Given the description of an element on the screen output the (x, y) to click on. 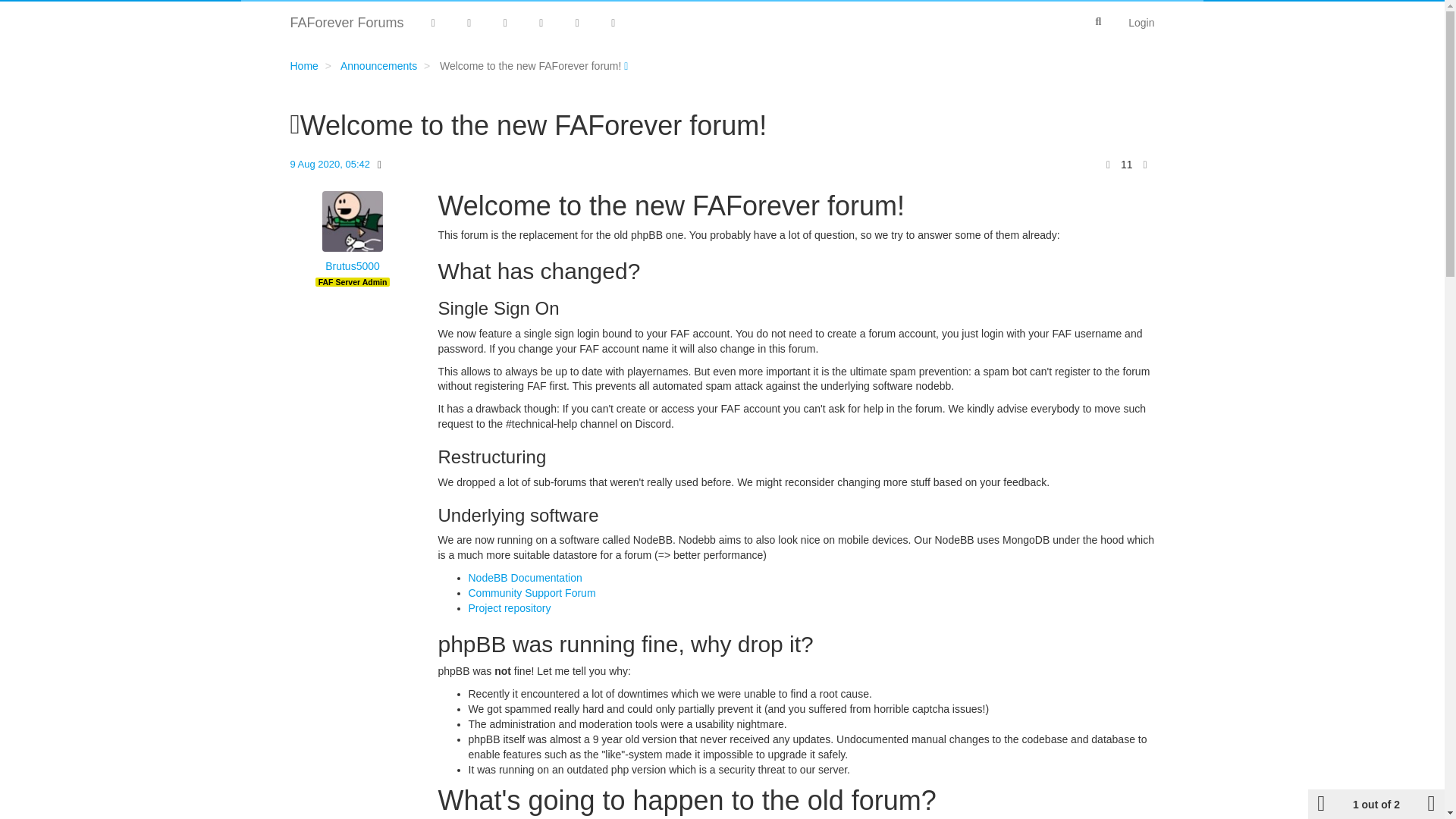
9 Aug 2020, 05:42 (329, 163)
FAF Server Admin (352, 281)
Search (1098, 21)
Brutus5000 (352, 266)
NodeBB Documentation (525, 577)
9 Aug 2020, 05:42 (329, 163)
Home (303, 65)
Community Support Forum (531, 592)
Project repository (509, 607)
Login (1141, 22)
